Given the description of an element on the screen output the (x, y) to click on. 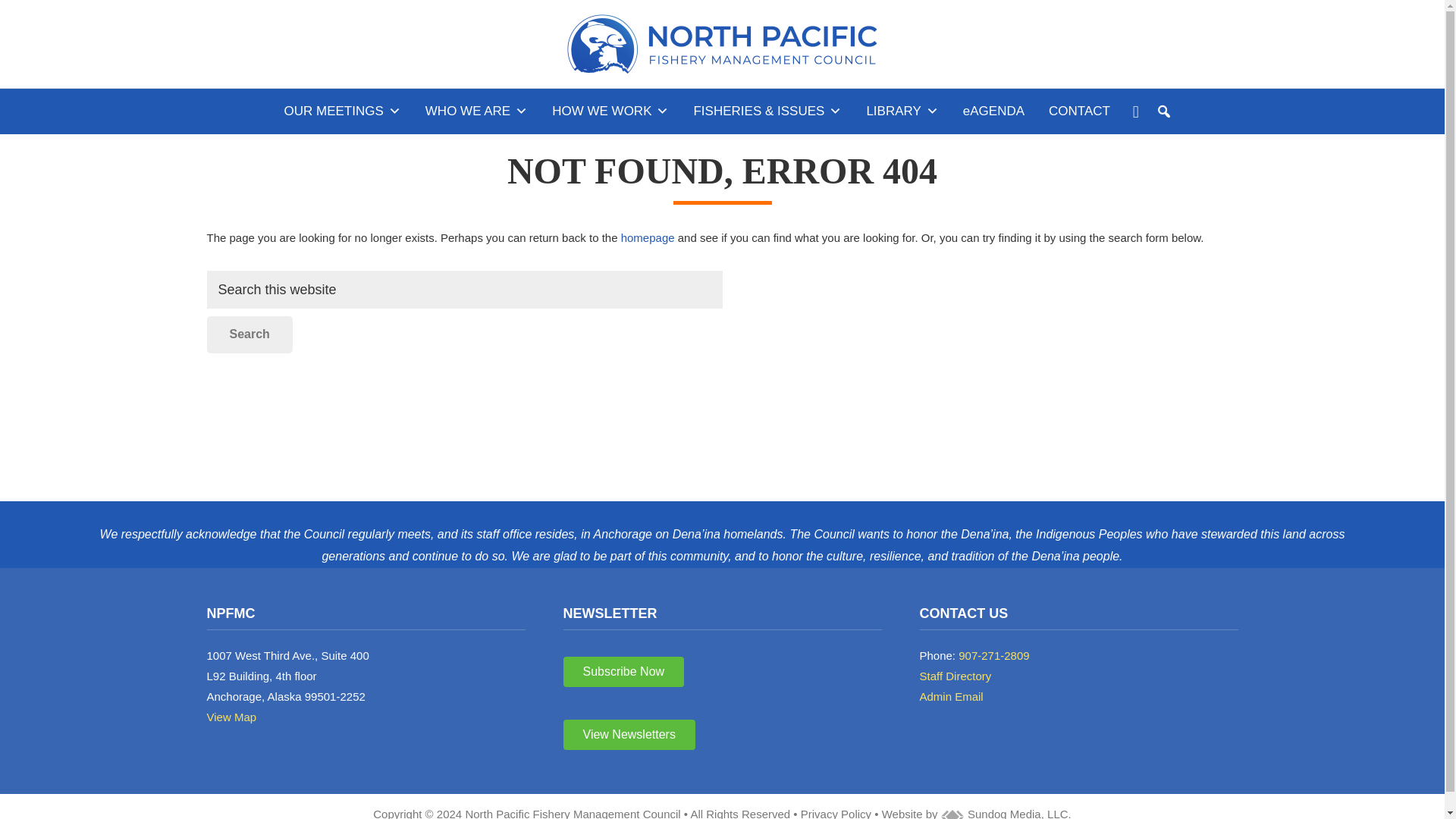
HOW WE WORK (610, 111)
Search (249, 334)
WHO WE ARE (476, 111)
Search (249, 334)
OUR MEETINGS (342, 111)
